Given the description of an element on the screen output the (x, y) to click on. 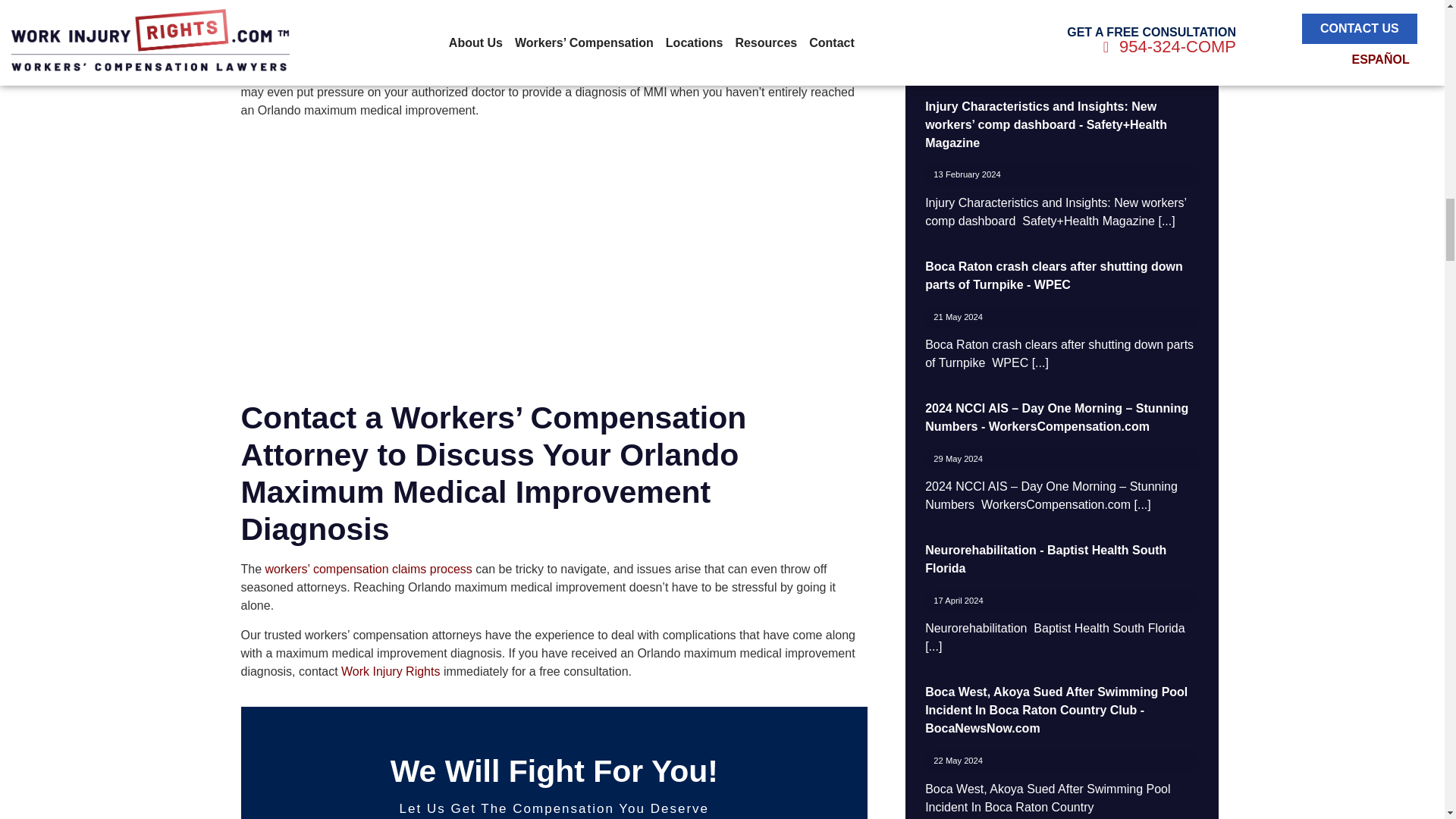
17 April 2024, 12:58 pm UTC (957, 600)
Neurorehabilitation - Baptist Health South Florida (1045, 558)
Read more (933, 645)
21 May 2024, 7:00 am UTC (957, 316)
29 May 2024, 7:00 am UTC (957, 458)
Read more (1165, 220)
Read more (1142, 504)
Read more (1040, 362)
13 February 2024, 8:00 am UTC (966, 174)
